Given the description of an element on the screen output the (x, y) to click on. 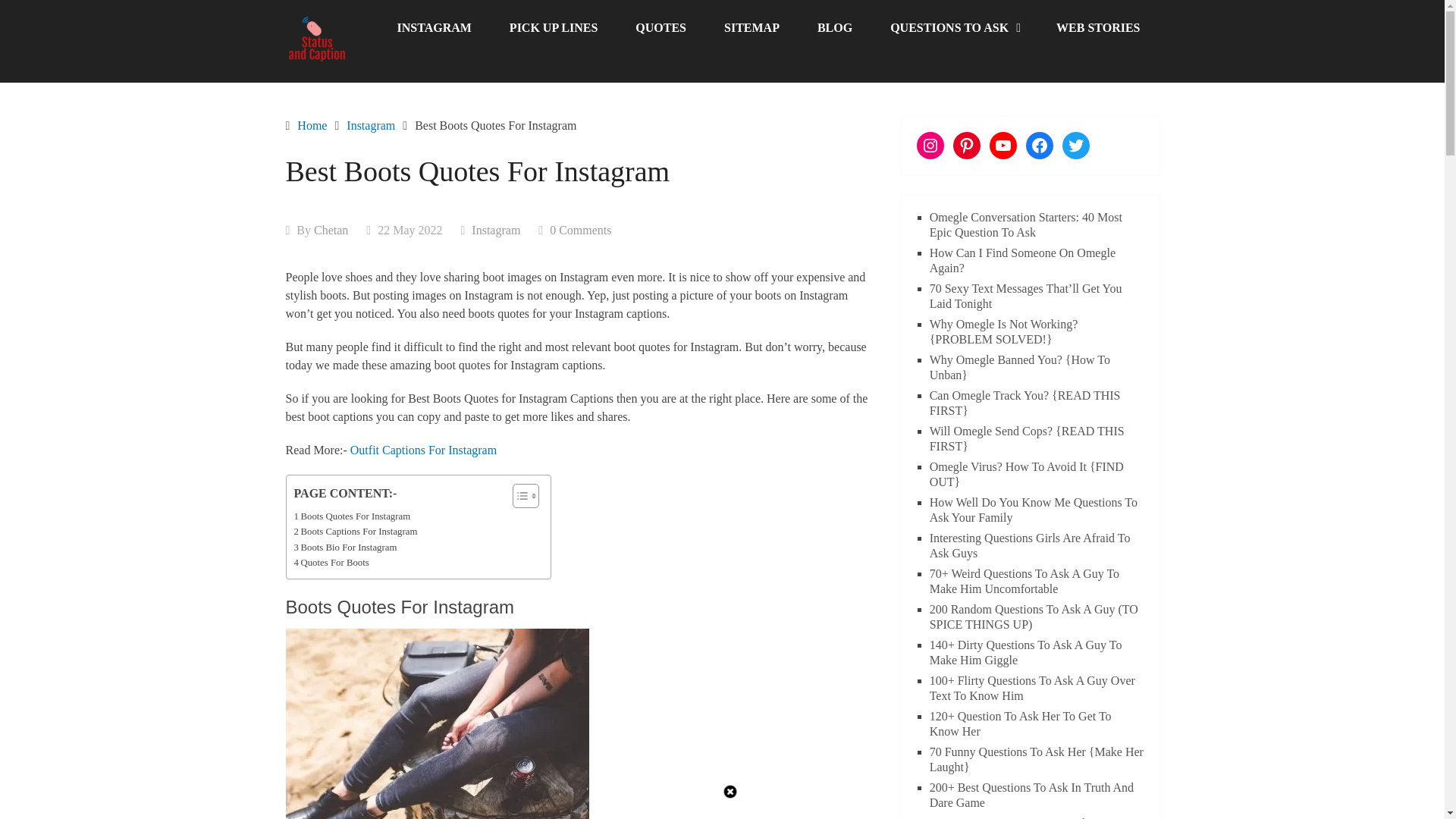
0 Comments (580, 229)
Boots Bio For Instagram (345, 547)
Pinterest (966, 144)
How Can I Find Someone On Omegle Again? (1022, 260)
Facebook (1039, 144)
INSTAGRAM (433, 28)
Twitter (1075, 144)
Instagram (370, 124)
Chetan (330, 229)
Outfit Captions For Instagram (423, 449)
Boots Quotes For Instagram (352, 516)
WEB STORIES (1097, 28)
Posts by Chetan (330, 229)
Instagram (930, 144)
Boots Captions For Instagram (355, 531)
